Given the description of an element on the screen output the (x, y) to click on. 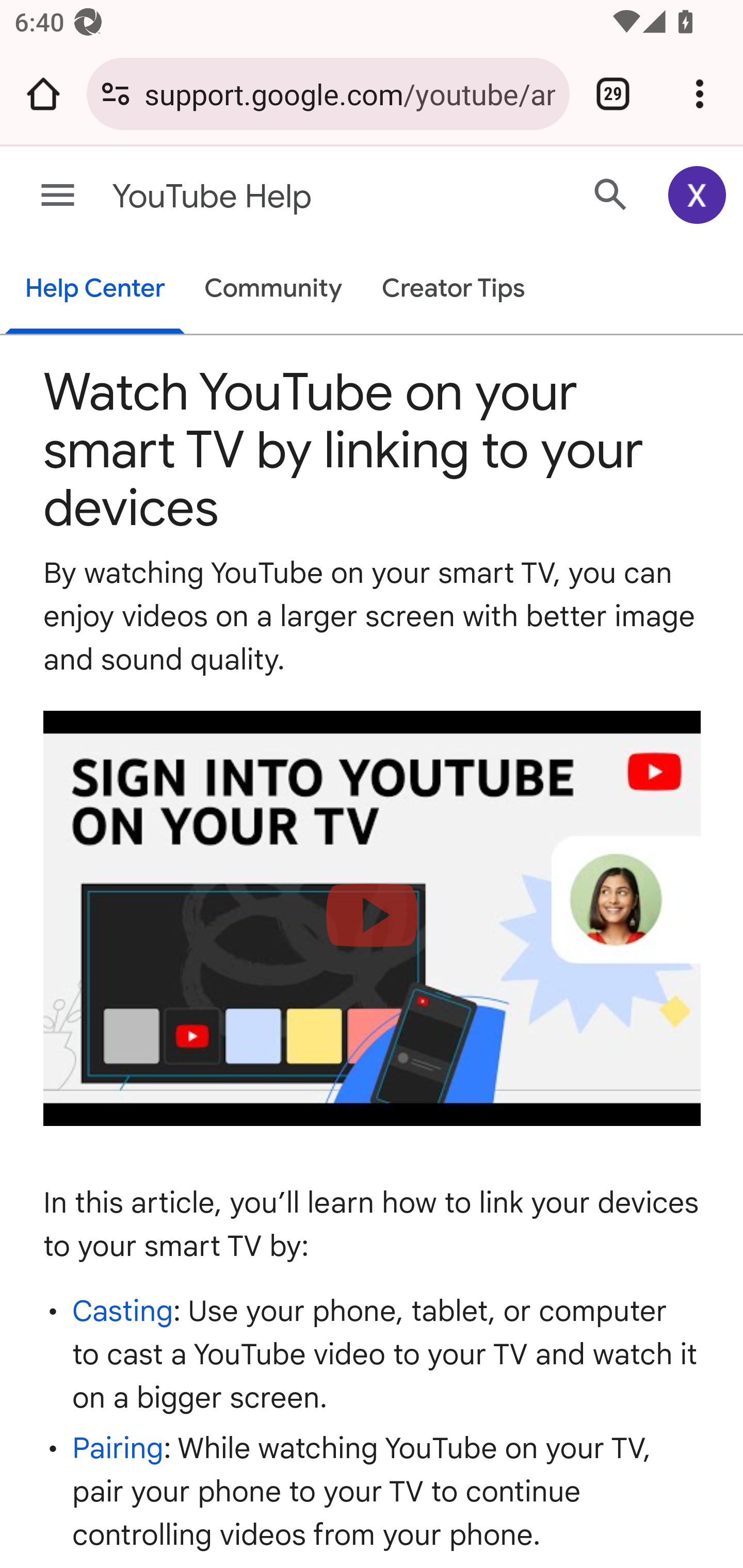
Open the home page (43, 93)
Connection is secure (115, 93)
Switch or close tabs (612, 93)
Customize and control Google Chrome (699, 93)
support.google.com/youtube/answer/7640706?hl=%@ (349, 92)
Main menu (58, 195)
YouTube Help (292, 197)
Search Help Center (611, 194)
Google Account: Xiaoran (zxrappiumtest@gmail.com) (697, 195)
Help Center (94, 289)
Community (273, 289)
Creator Tips (453, 289)
Load video (372, 918)
Casting (123, 1310)
Pairing (118, 1448)
